Given the description of an element on the screen output the (x, y) to click on. 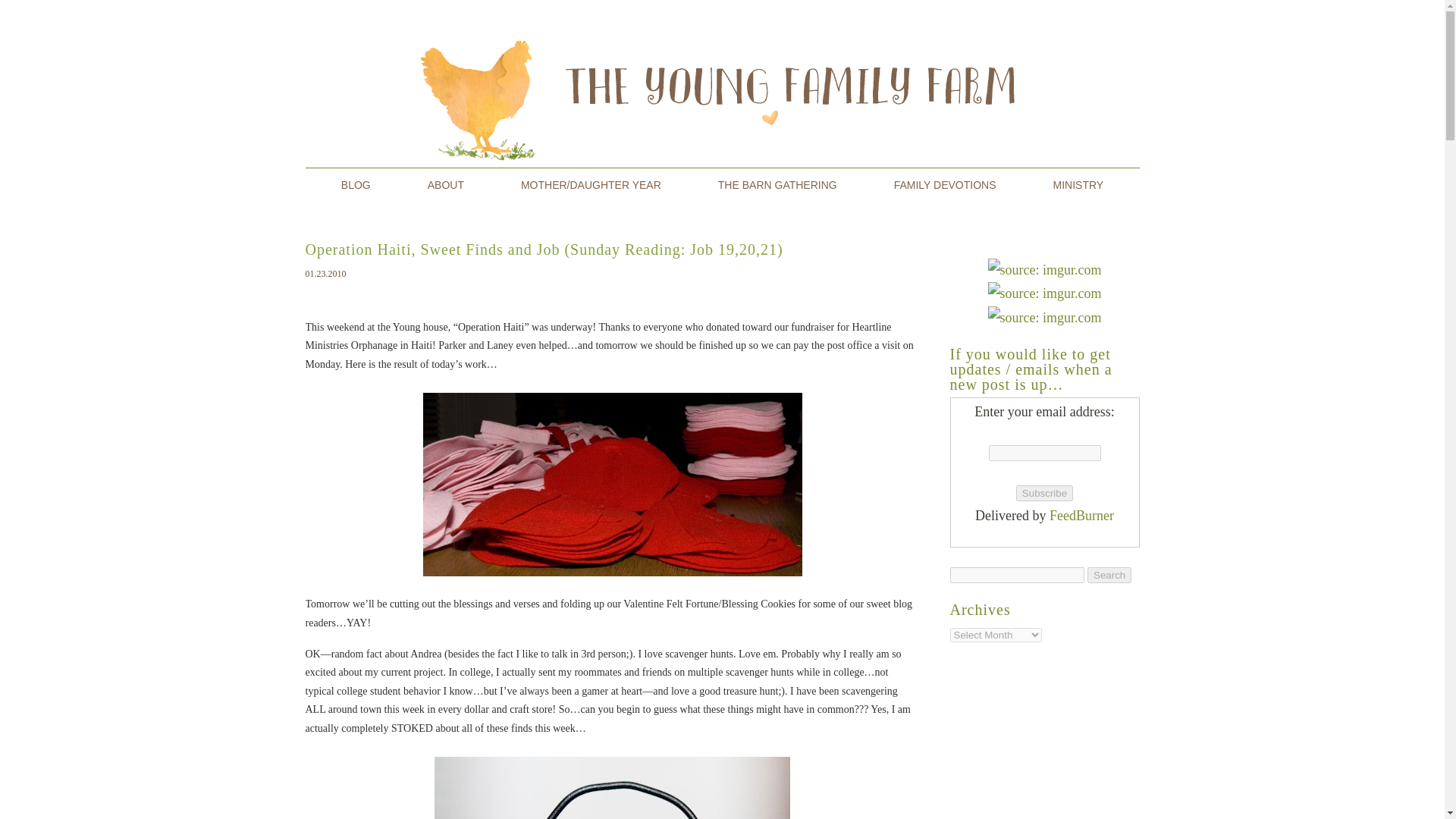
FAMILY DEVOTIONS (944, 184)
source: imgur.com (1043, 293)
source: imgur.com (1043, 270)
MINISTRY (1077, 184)
ABOUT (446, 184)
Subscribe (1044, 493)
THE BARN GATHERING (777, 184)
jan 011 (611, 784)
The Young Family Farm (355, 184)
jan 002 (611, 483)
Search (1109, 575)
BLOG (355, 184)
